Given the description of an element on the screen output the (x, y) to click on. 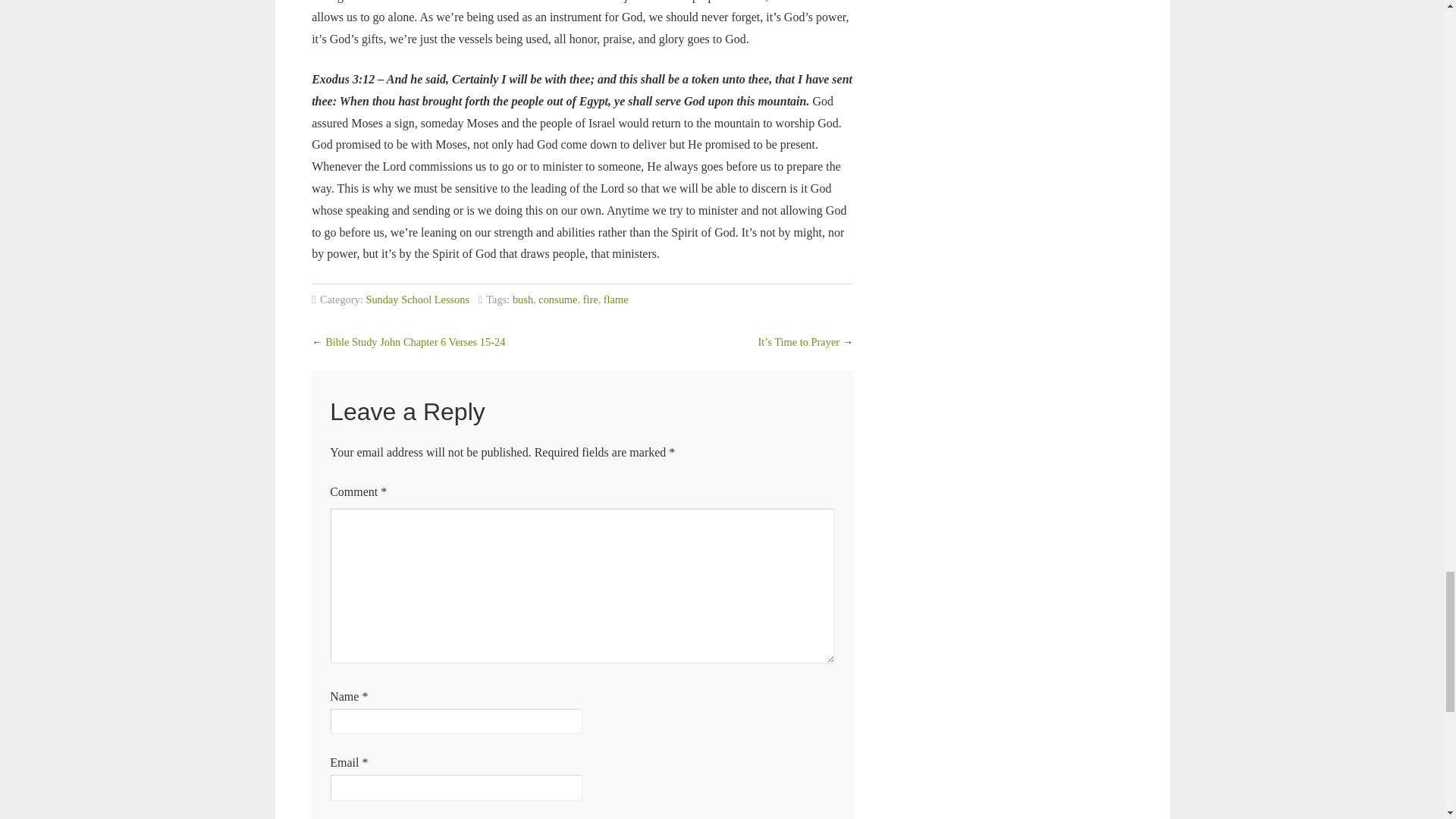
fire (590, 299)
Sunday School Lessons (416, 299)
Bible Study John Chapter 6 Verses 15-24 (414, 341)
consume (557, 299)
bush (522, 299)
flame (616, 299)
